Given the description of an element on the screen output the (x, y) to click on. 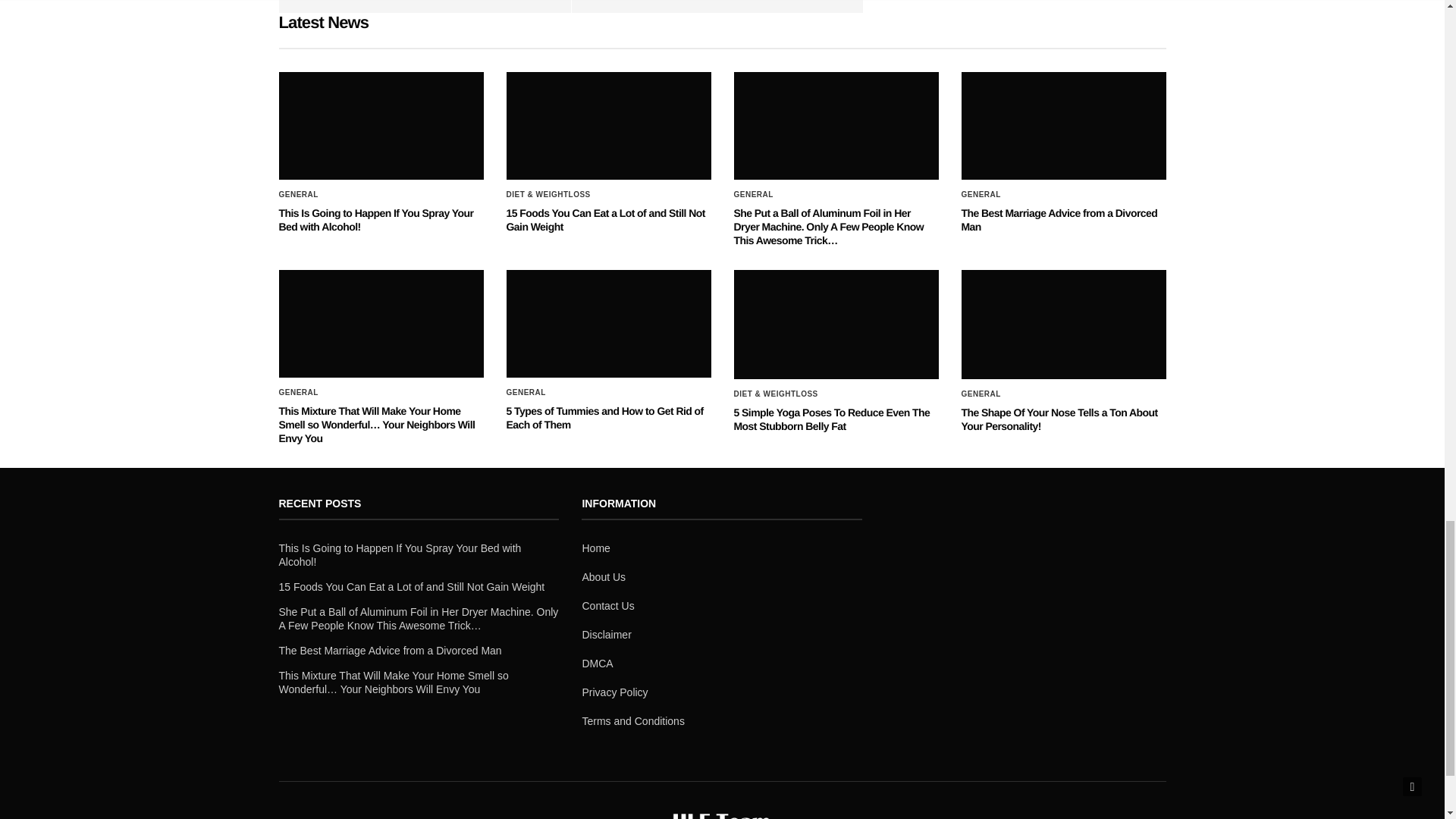
15 Foods You Can Eat a Lot of and Still Not Gain Weight (605, 219)
GENERAL (298, 194)
General (298, 194)
15 Foods You Can Eat a Lot of and Still Not Gain Weight (605, 219)
GENERAL (980, 194)
This Is Going to Happen If You Spray Your Bed with Alcohol! (376, 219)
This Is Going to Happen If You Spray Your Bed with Alcohol! (376, 219)
This Is Going to Happen If You Spray Your Bed with Alcohol! (381, 125)
15 Foods You Can Eat a Lot of and Still Not Gain Weight (608, 125)
GENERAL (753, 194)
